Given the description of an element on the screen output the (x, y) to click on. 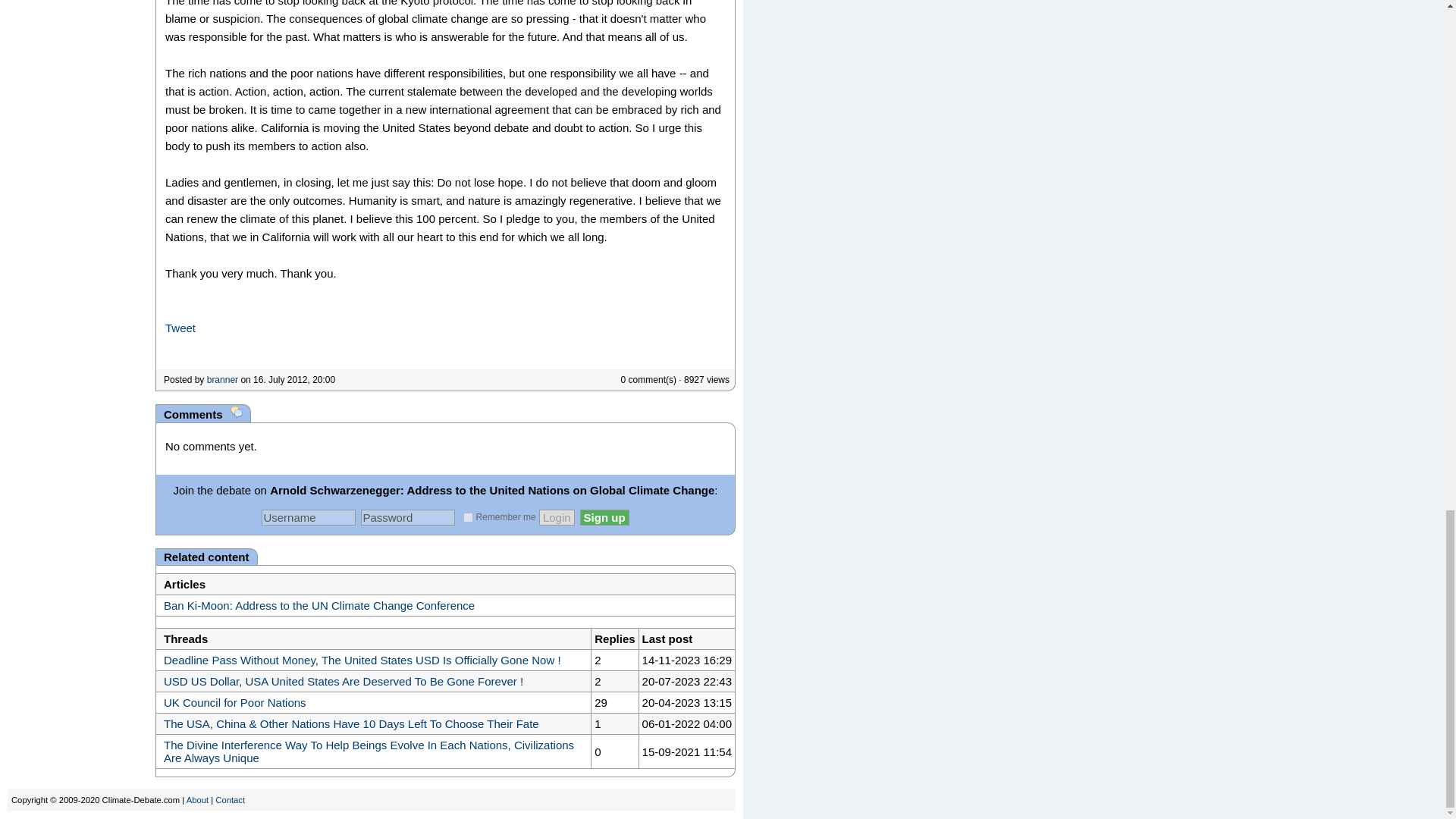
Login (556, 517)
Tweet (180, 327)
Password (407, 517)
Username (308, 517)
Sign up (603, 517)
About (197, 799)
branner (222, 379)
y (468, 517)
UK Council for Poor Nations (234, 702)
Login (556, 517)
Sign up (603, 517)
Fill in the fields to the left and click here to log in (556, 517)
